Given the description of an element on the screen output the (x, y) to click on. 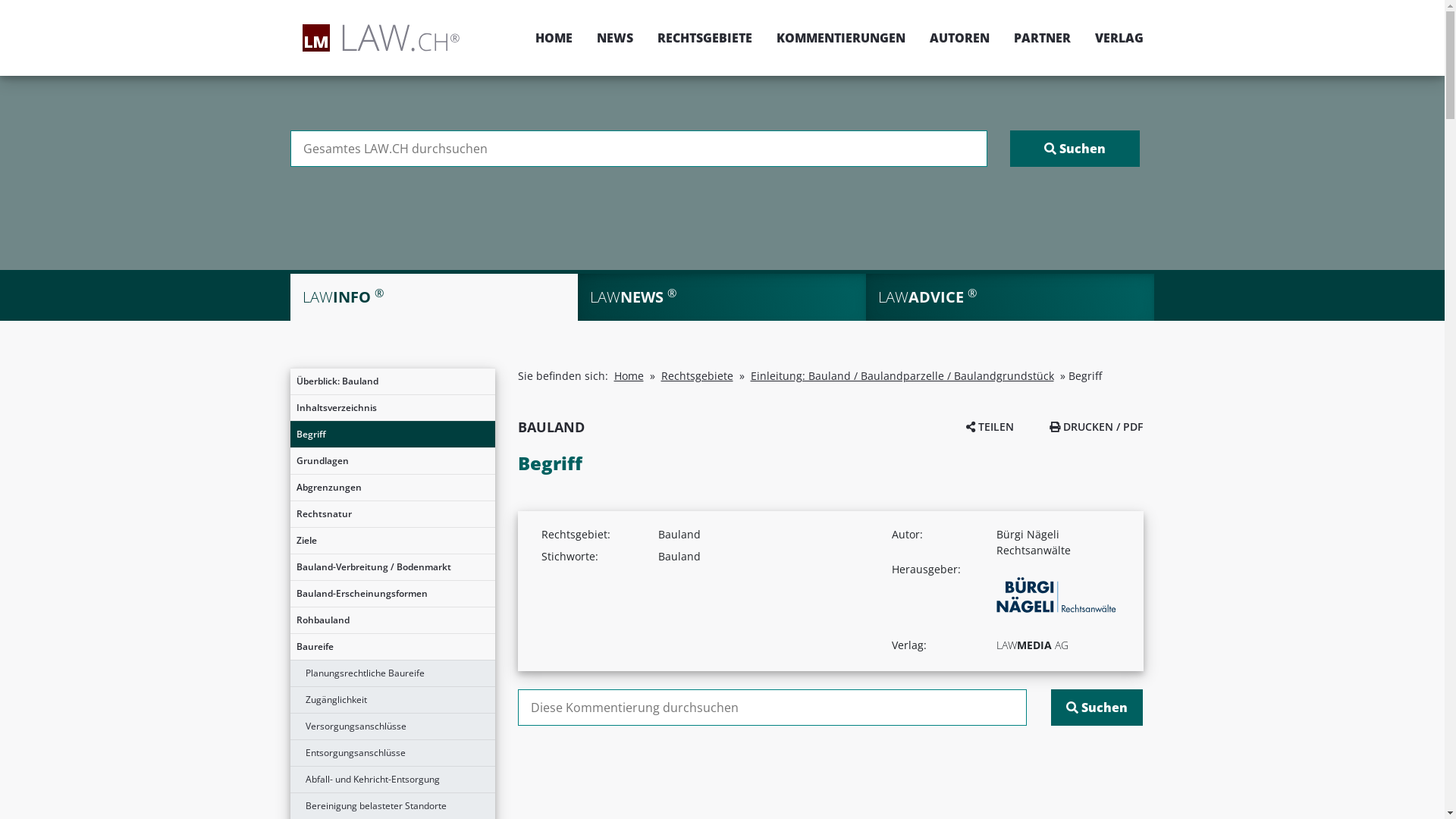
Abfall- und Kehricht-Entsorgung Element type: text (391, 779)
RECHTSGEBIETE Element type: text (703, 37)
Grundlagen Element type: text (391, 460)
HOME Element type: text (553, 37)
AUTOREN Element type: text (959, 37)
 DRUCKEN / PDF Element type: text (1095, 426)
VERLAG Element type: text (1112, 37)
NEWS Element type: text (613, 37)
Rohbauland Element type: text (391, 620)
Suchen nach: Element type: hover (771, 707)
Bauland-Erscheinungsformen Element type: text (391, 593)
Suchen nach: Element type: hover (637, 148)
PARTNER Element type: text (1041, 37)
Rechtsgebiete Element type: text (697, 375)
Rechtsnatur Element type: text (391, 514)
KOMMENTIERUNGEN Element type: text (840, 37)
Home Element type: text (628, 375)
Inhaltsverzeichnis Element type: text (391, 407)
 TEILEN Element type: text (989, 426)
Begriff Element type: text (391, 434)
Bauland-Verbreitung / Bodenmarkt Element type: text (391, 567)
Baureife Element type: text (391, 646)
Ziele Element type: text (391, 540)
Abgrenzungen Element type: text (391, 487)
Planungsrechtliche Baureife Element type: text (391, 673)
